Given the description of an element on the screen output the (x, y) to click on. 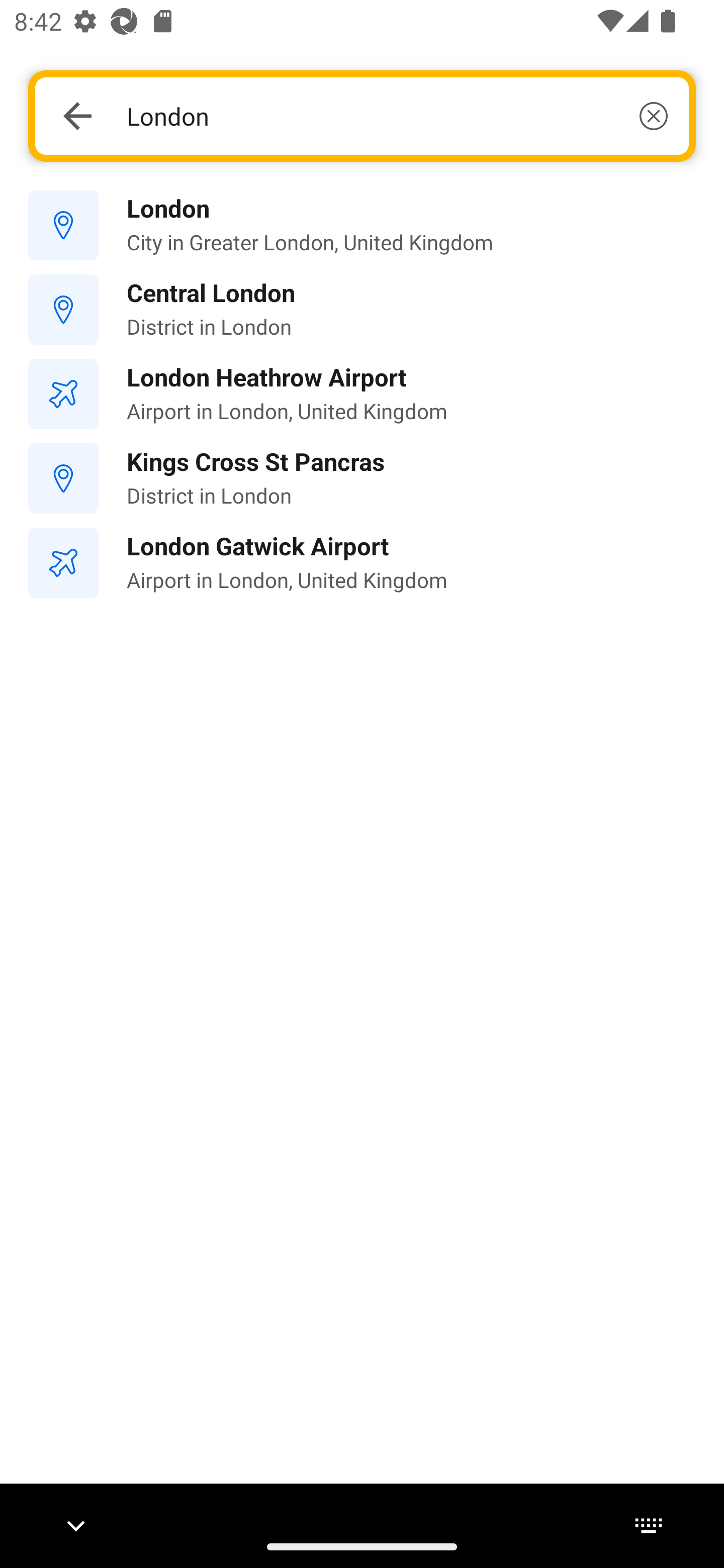
London (396, 115)
London City in Greater London, United Kingdom (362, 225)
Central London District in London (362, 309)
Kings Cross St Pancras District in London (362, 477)
